Given the description of an element on the screen output the (x, y) to click on. 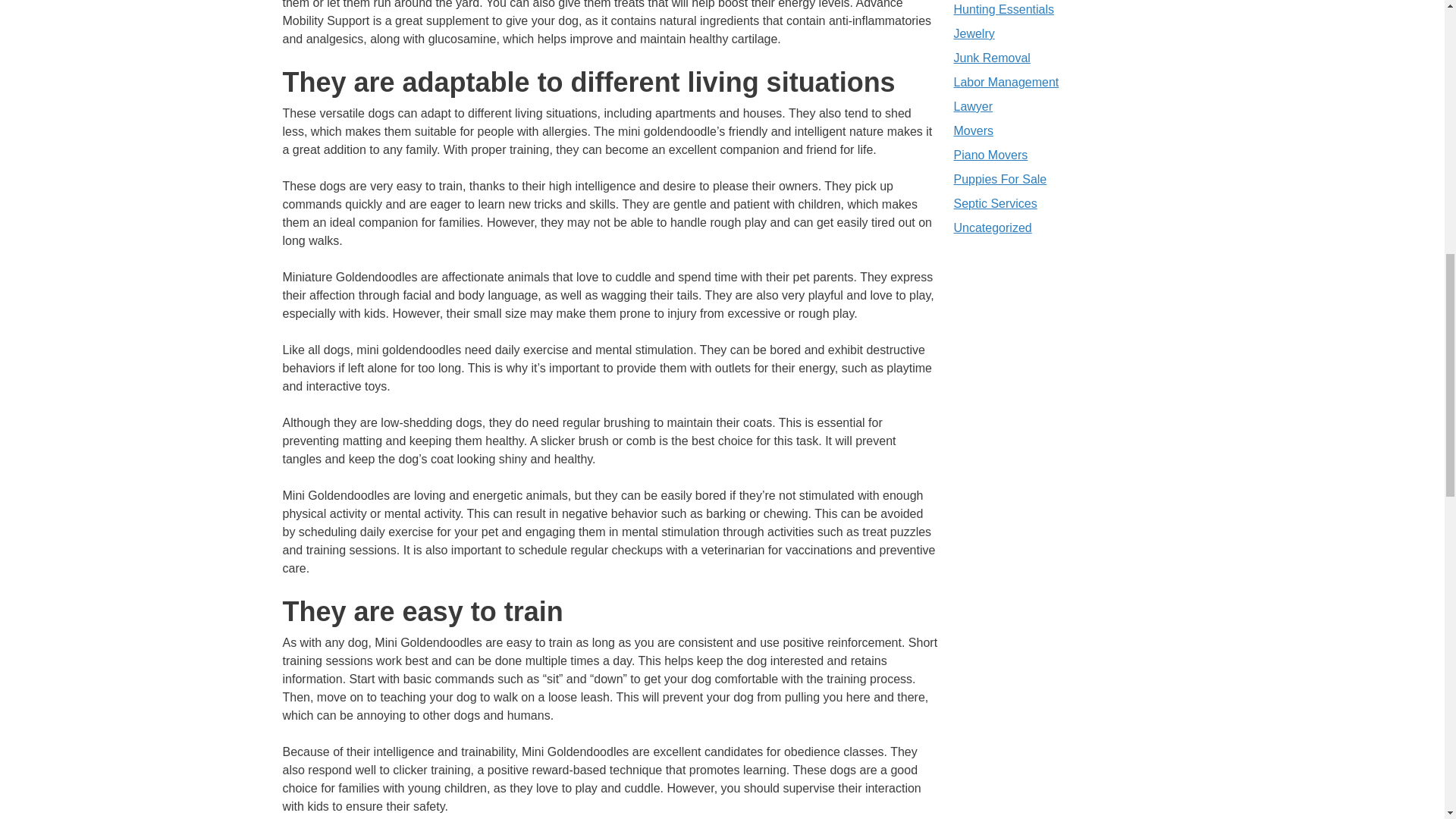
Junk Removal (991, 57)
Jewelry (973, 33)
Hunting Essentials (1003, 9)
Movers (972, 130)
Piano Movers (990, 154)
Lawyer (972, 106)
Labor Management (1006, 82)
